Given the description of an element on the screen output the (x, y) to click on. 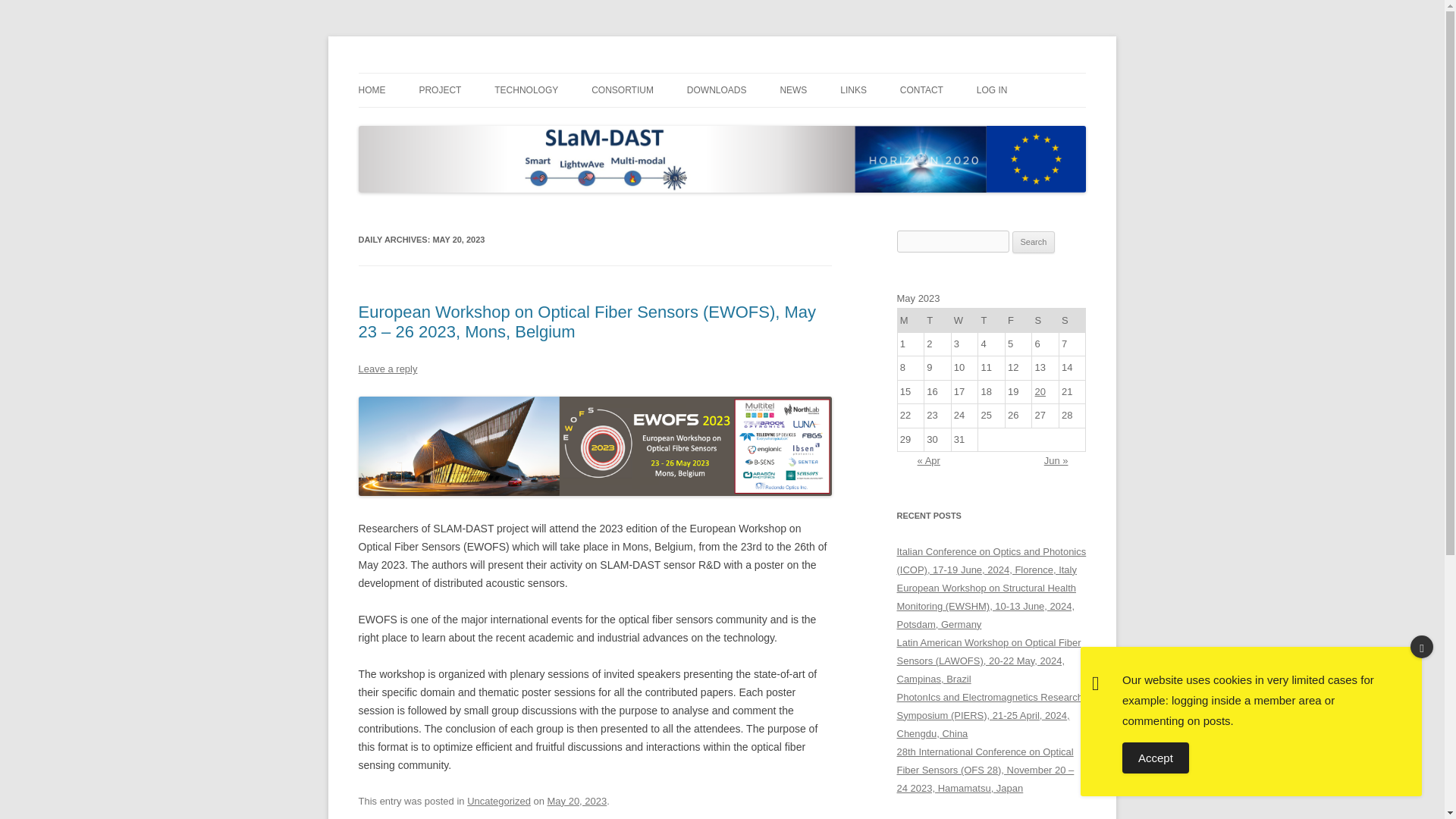
Wednesday (964, 320)
Monday (910, 320)
Search (1033, 241)
PROJECT (440, 90)
Thursday (992, 320)
CONSORTIUM (622, 90)
20 (1040, 391)
TECHNOLOGY (526, 90)
SLAM-DAST (416, 72)
RAYLEIGH AND BRILLOUIN SCATTERING (570, 131)
Search (1033, 241)
DOWNLOADS (716, 90)
ABSTRACTS AND PROCEEDINGS (762, 122)
